Given the description of an element on the screen output the (x, y) to click on. 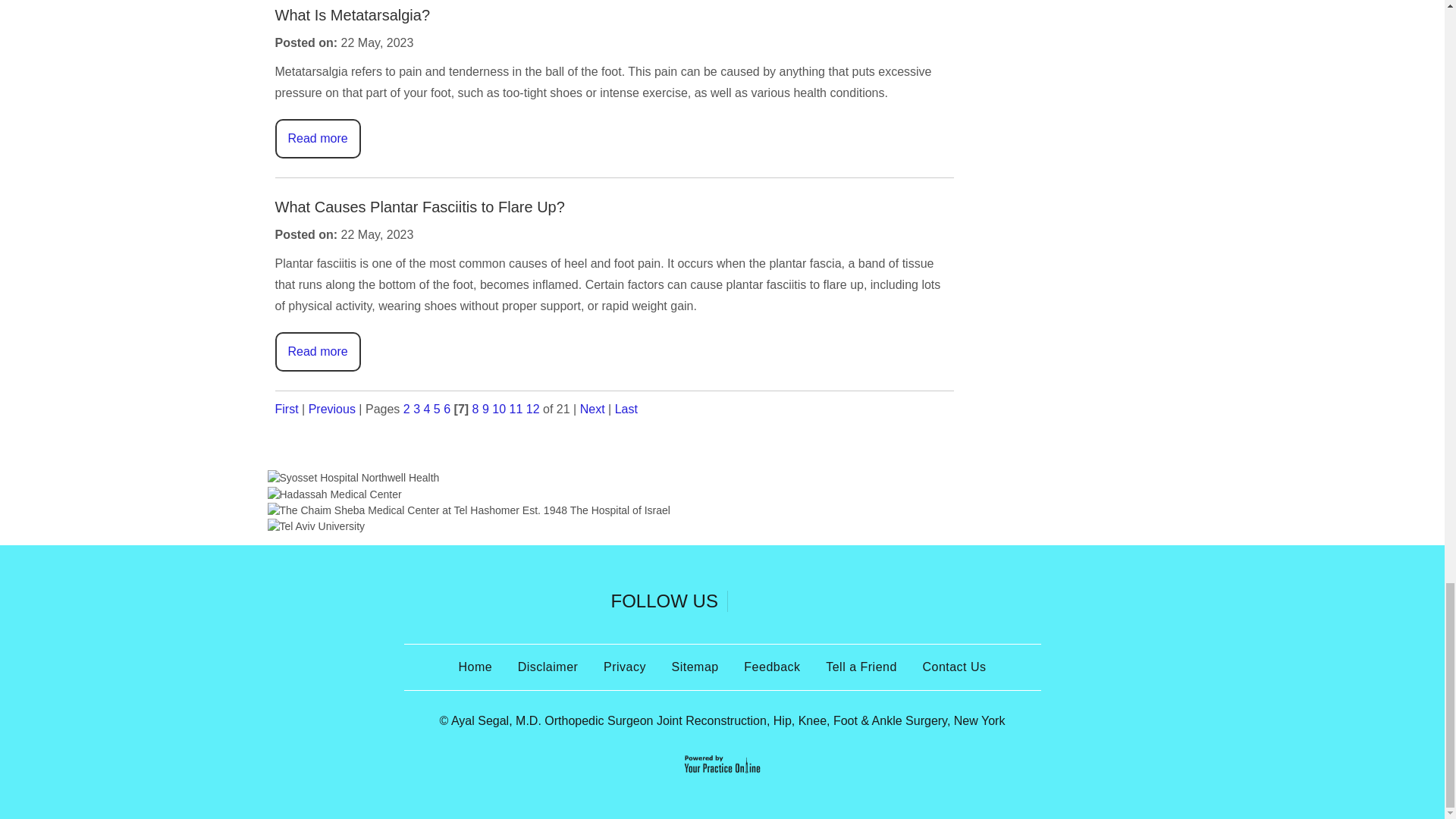
Read more about What Causes Plantar Fasciitis to Flare Up? (317, 351)
Previous Page (331, 408)
First Page (286, 408)
Read more about What Is Metatarsalgia? (317, 138)
